Given the description of an element on the screen output the (x, y) to click on. 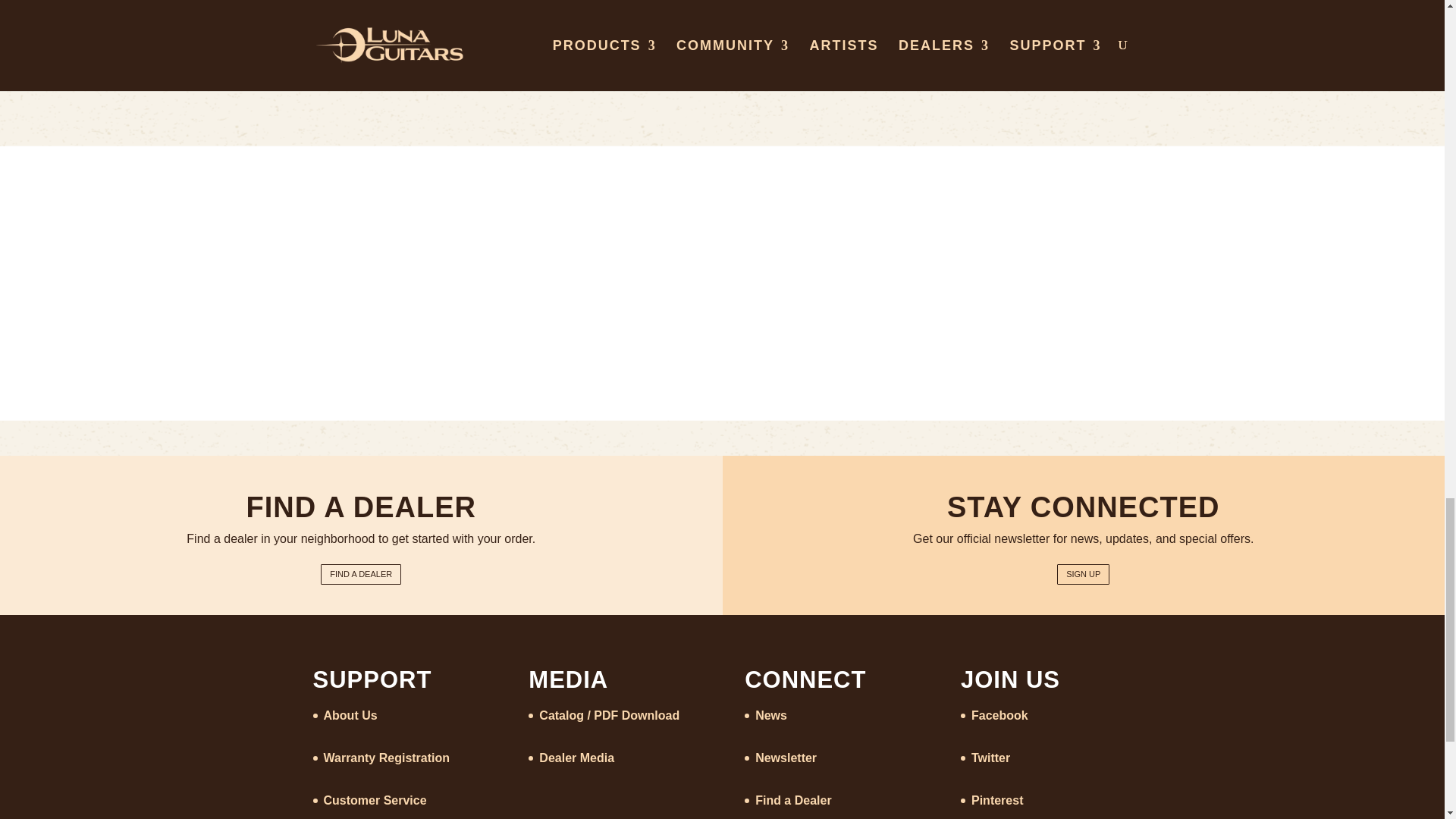
FIND A DEALER (360, 574)
SIGN UP (1083, 574)
